Given the description of an element on the screen output the (x, y) to click on. 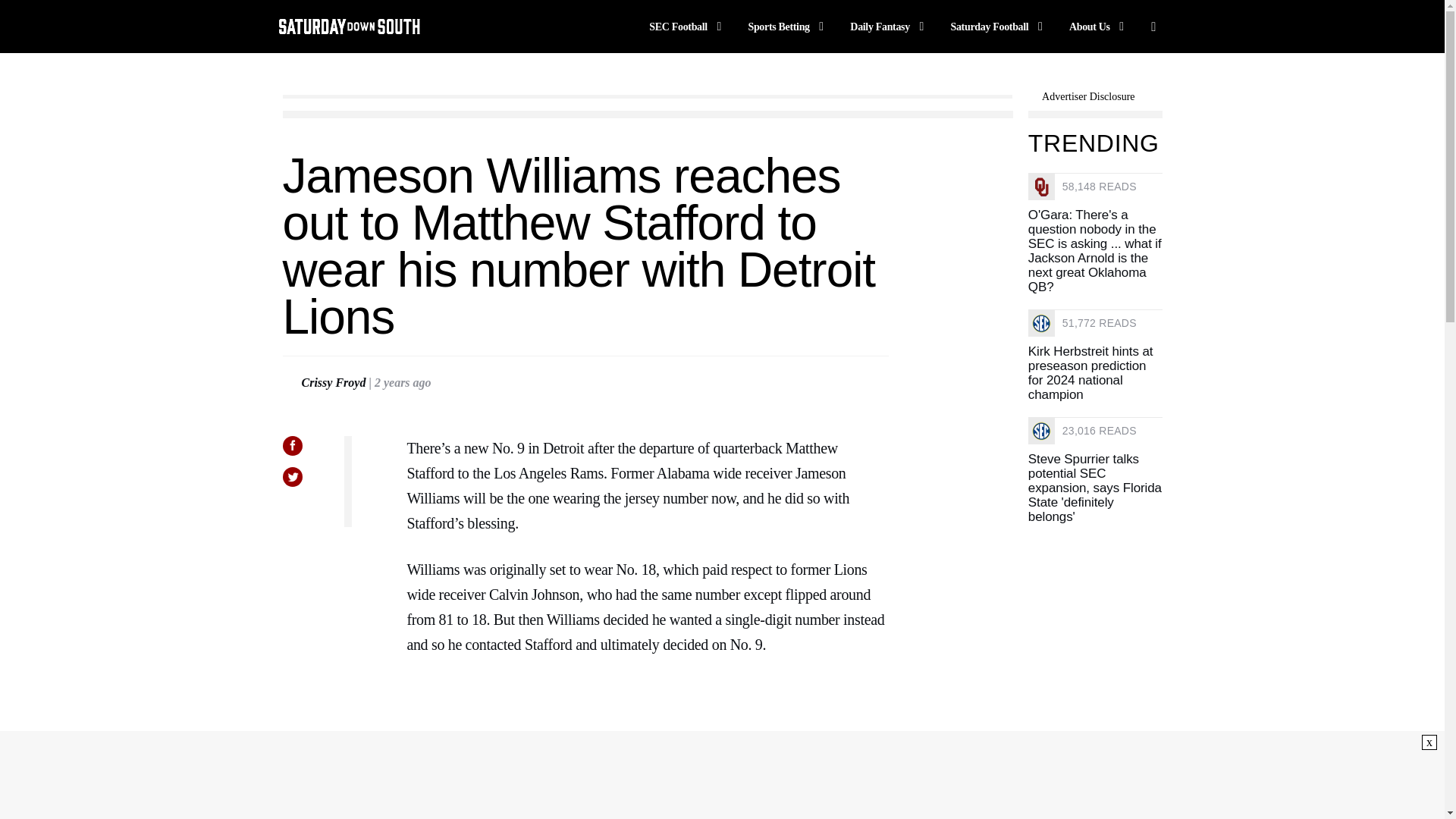
SEC Football (687, 26)
